Given the description of an element on the screen output the (x, y) to click on. 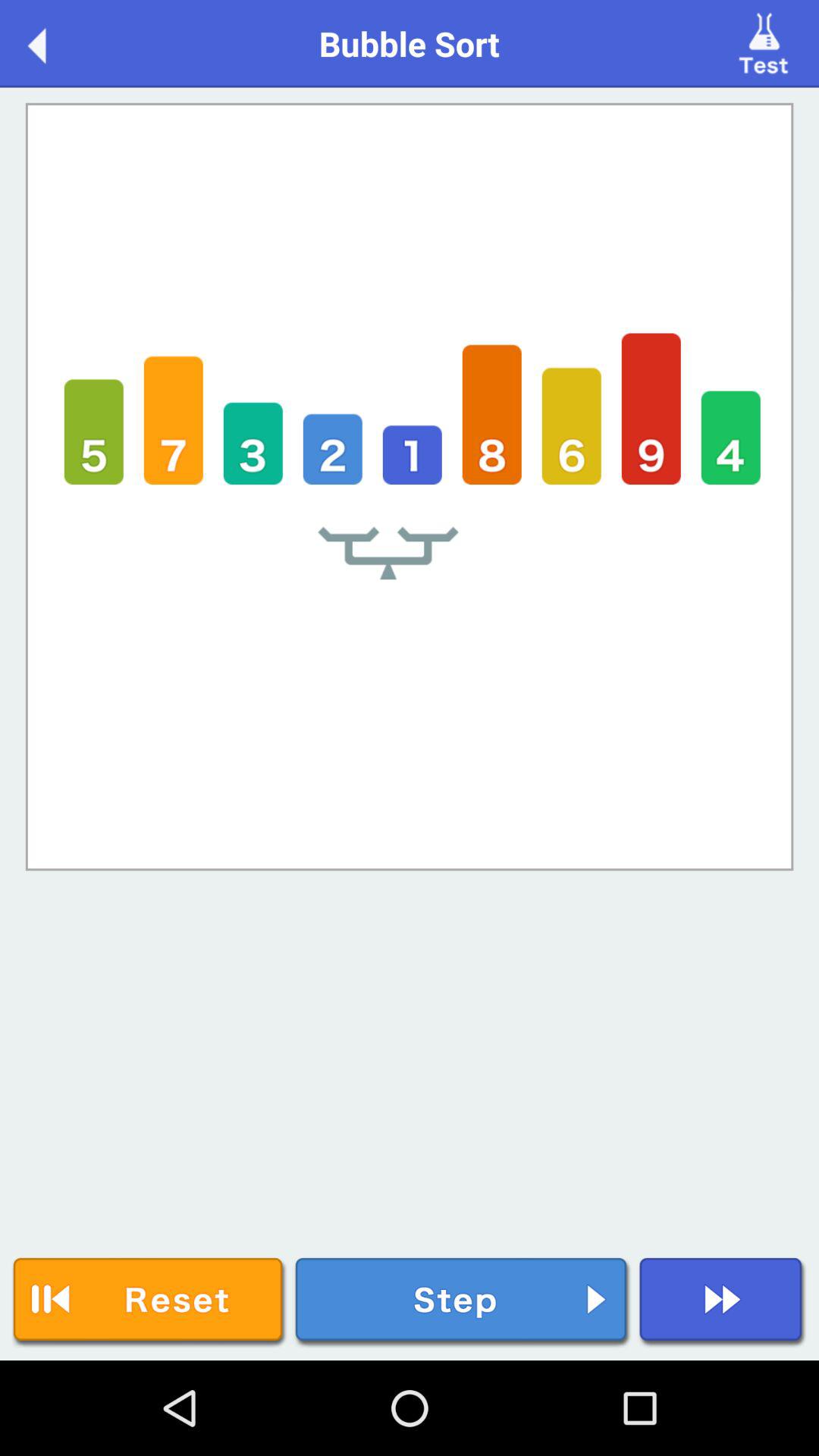
next item (722, 1302)
